Given the description of an element on the screen output the (x, y) to click on. 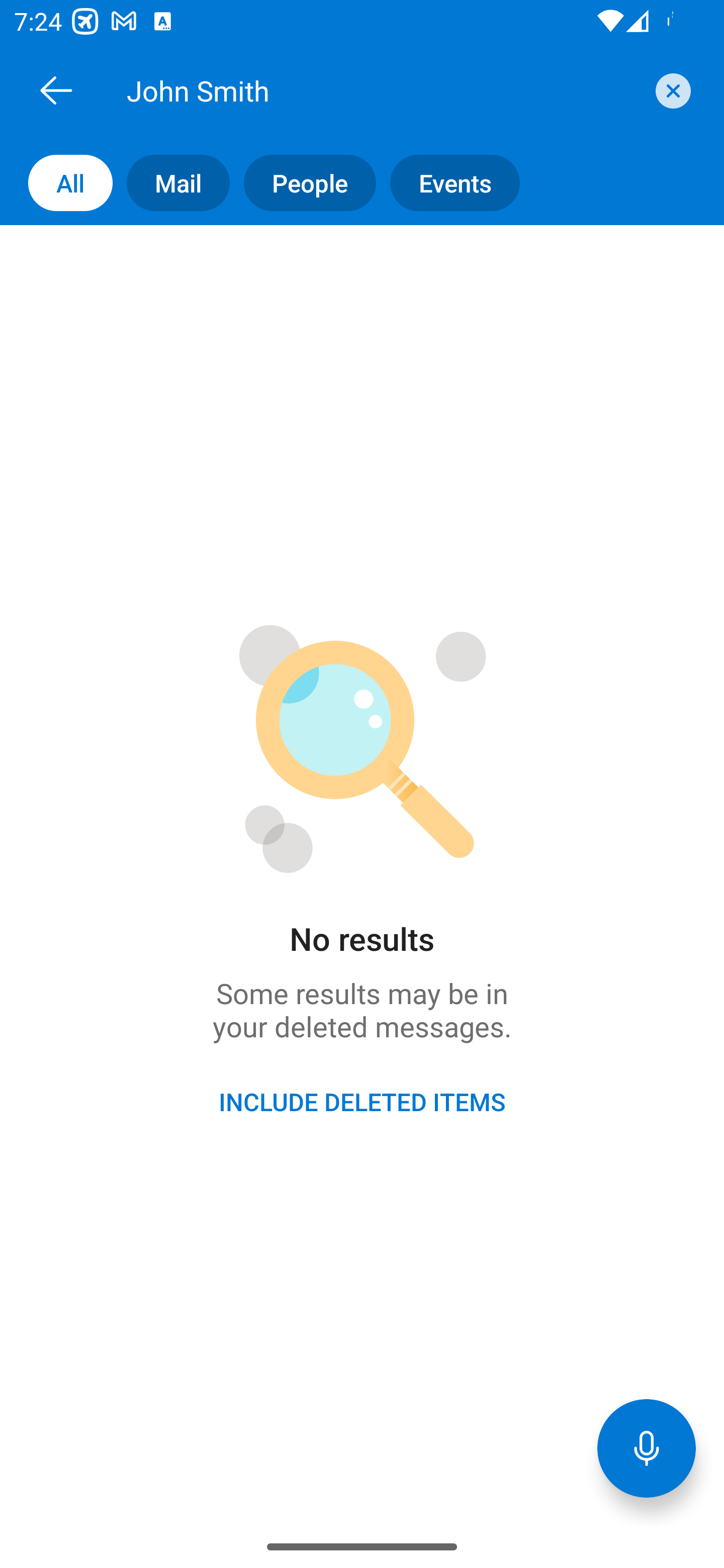
Back (55, 89)
John Smith (384, 89)
clear search (670, 90)
Mail (170, 183)
People (302, 183)
Events (447, 183)
INCLUDE DELETED ITEMS (362, 1101)
Voice Assistant (646, 1447)
